Given the description of an element on the screen output the (x, y) to click on. 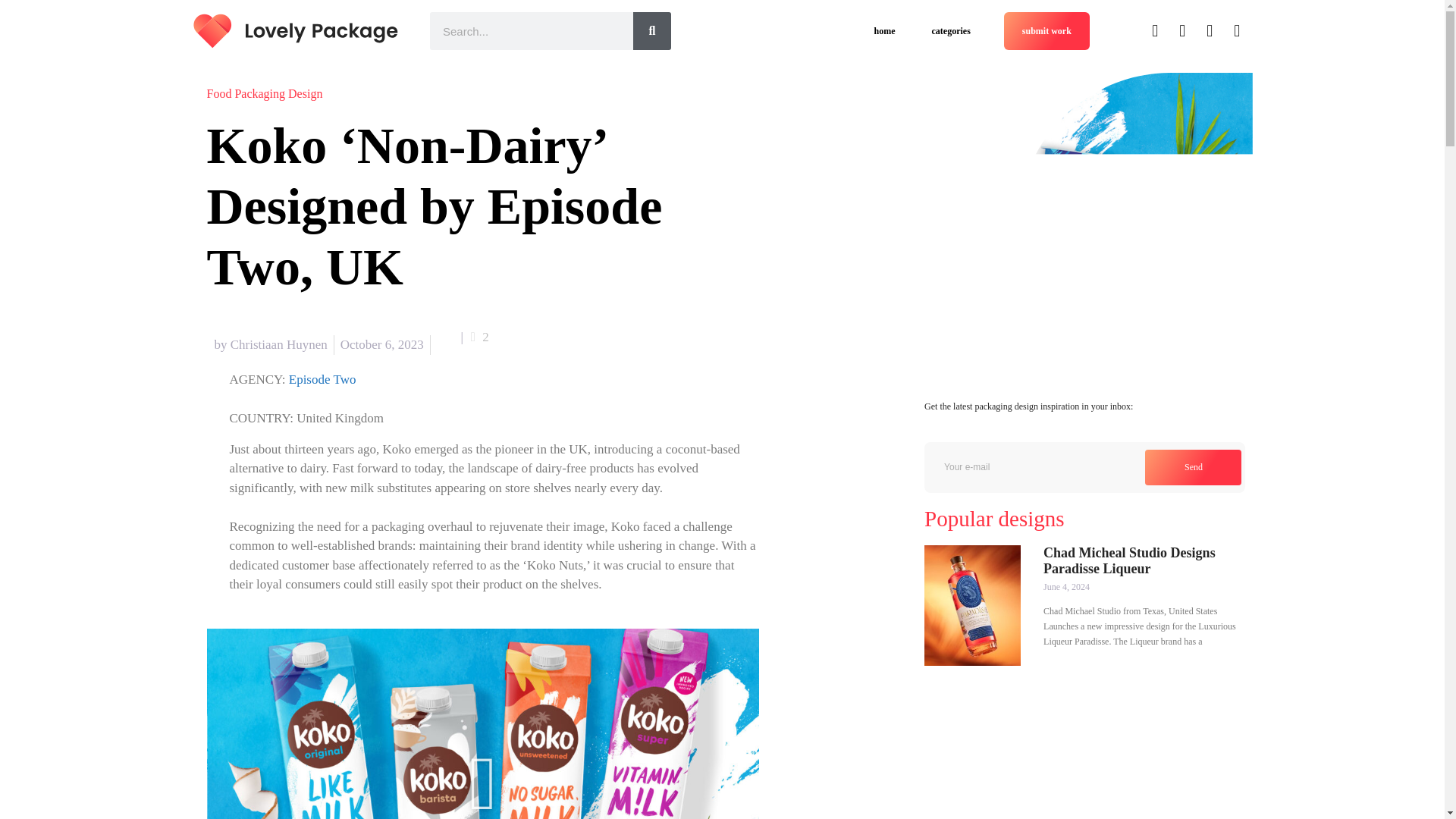
home (885, 30)
categories (951, 30)
submit work (1046, 30)
vimeo Video Player (482, 723)
